Given the description of an element on the screen output the (x, y) to click on. 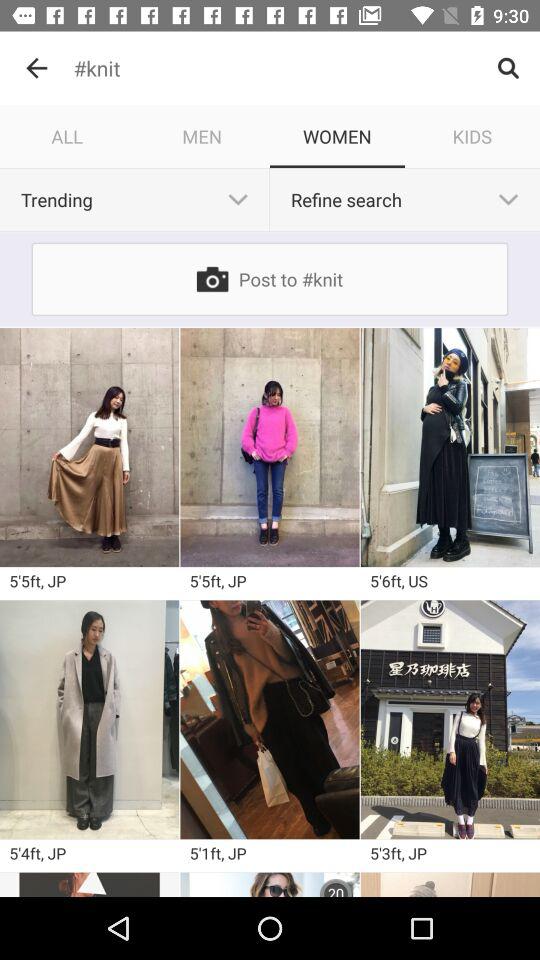
select picture (450, 719)
